Given the description of an element on the screen output the (x, y) to click on. 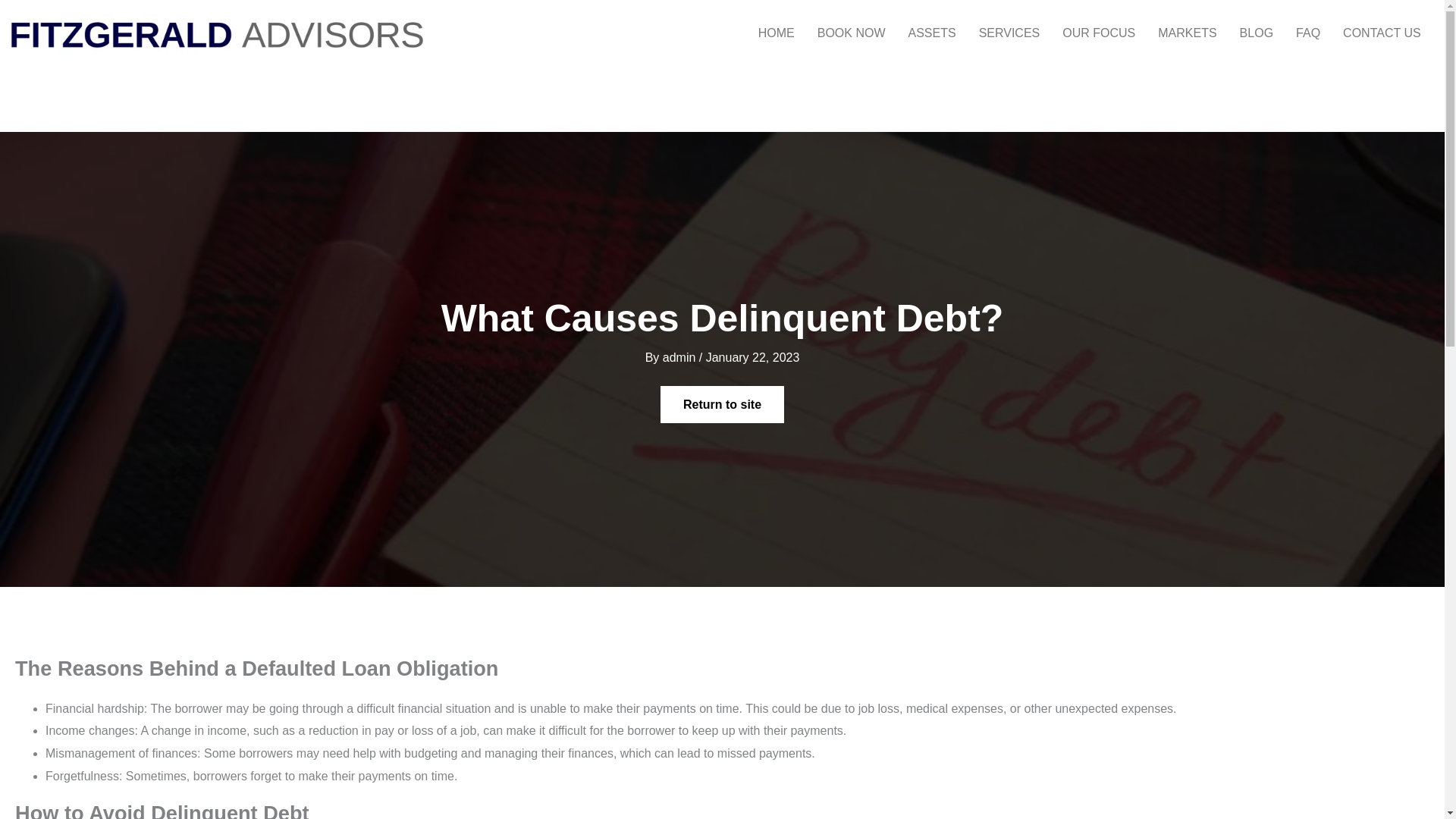
OUR FOCUS (1099, 32)
View all posts by  (680, 357)
FAQ (1308, 32)
BLOG (1256, 32)
Return to site (722, 404)
admin (680, 357)
CONTACT US (1382, 32)
BOOK NOW (851, 32)
SERVICES (1009, 32)
ASSETS (931, 32)
HOME (776, 32)
MARKETS (1187, 32)
